Given the description of an element on the screen output the (x, y) to click on. 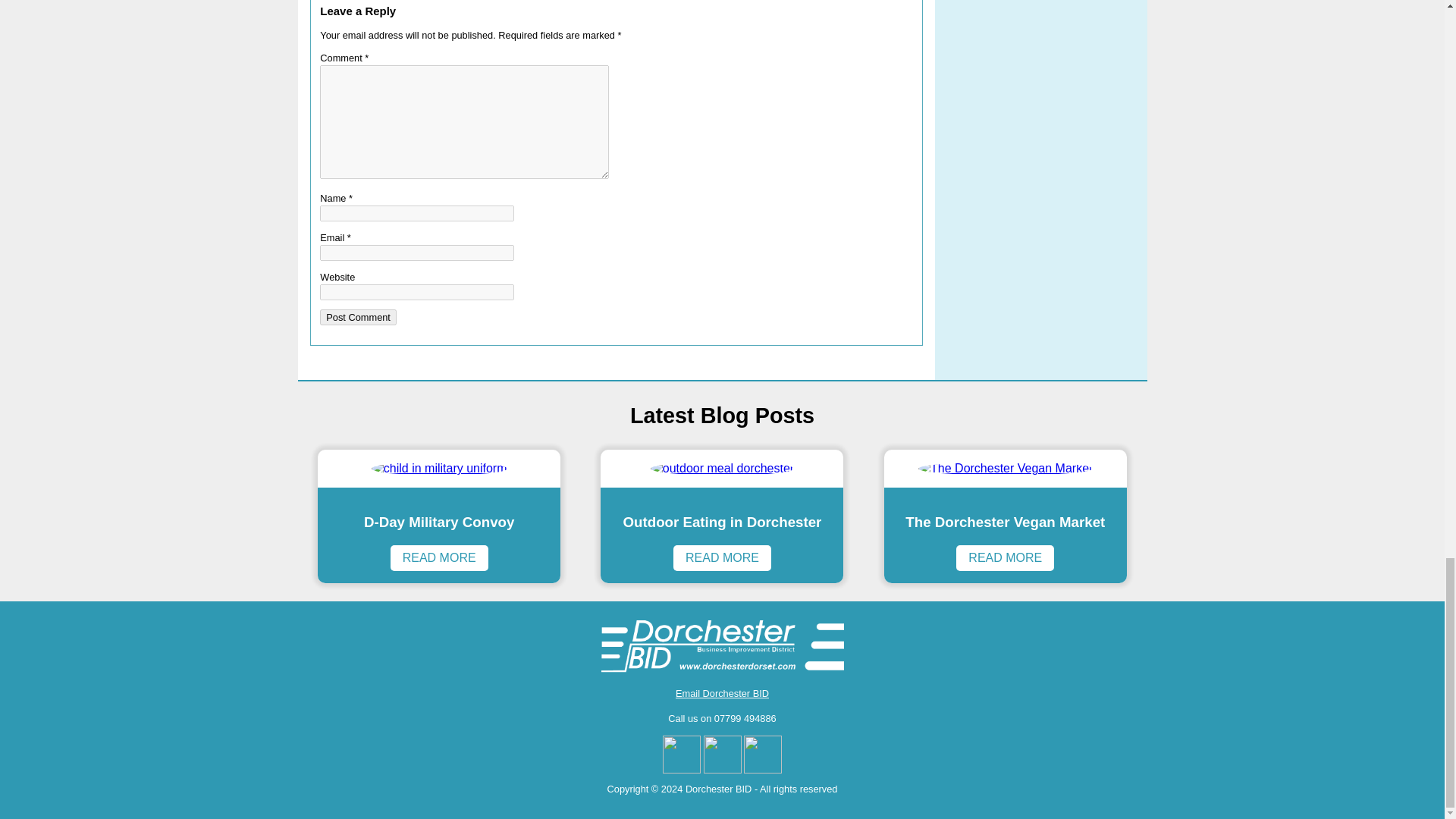
Post Comment (358, 317)
